Given the description of an element on the screen output the (x, y) to click on. 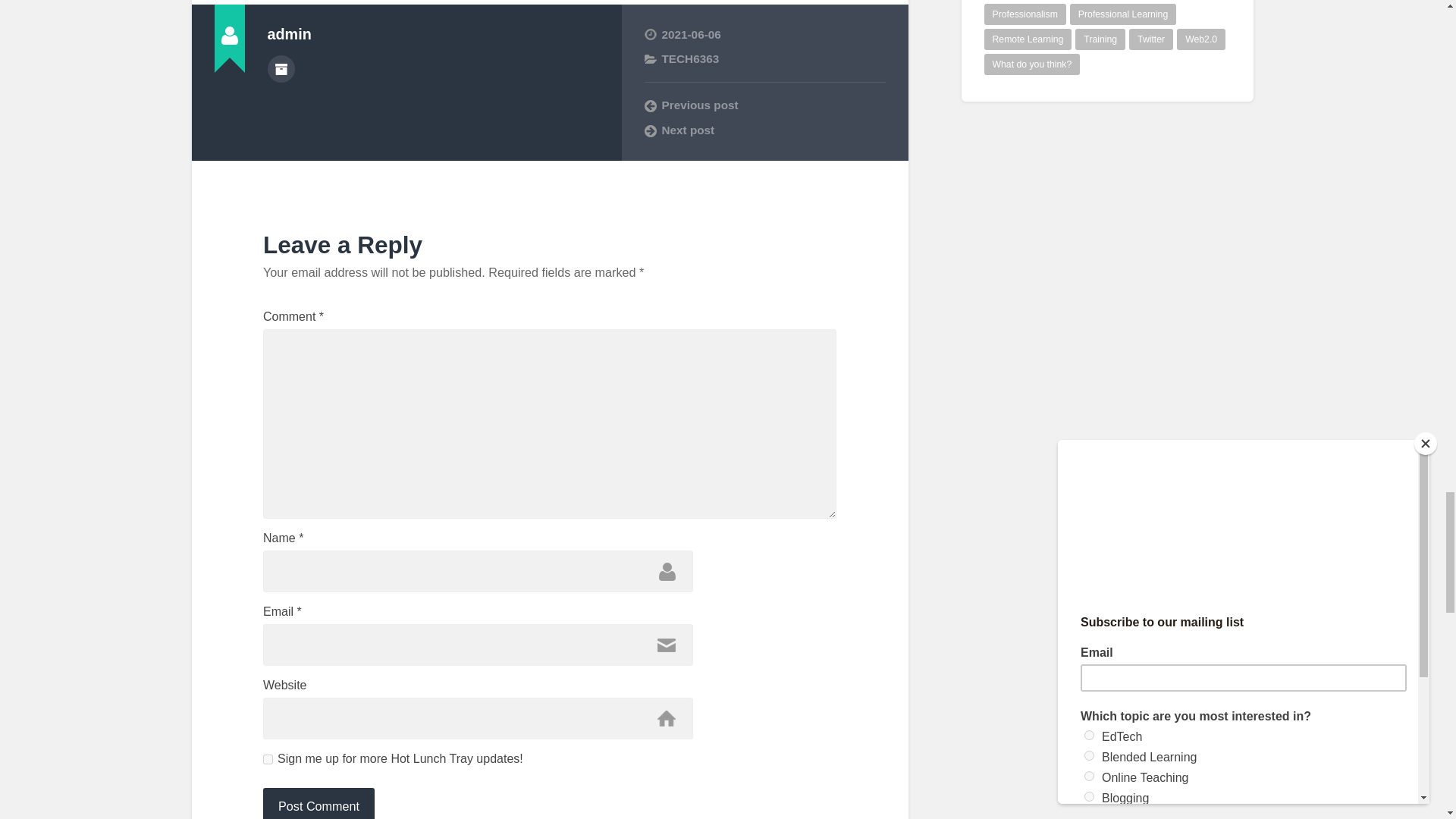
Author archive (280, 68)
1 (268, 759)
Post Comment (318, 803)
